Given the description of an element on the screen output the (x, y) to click on. 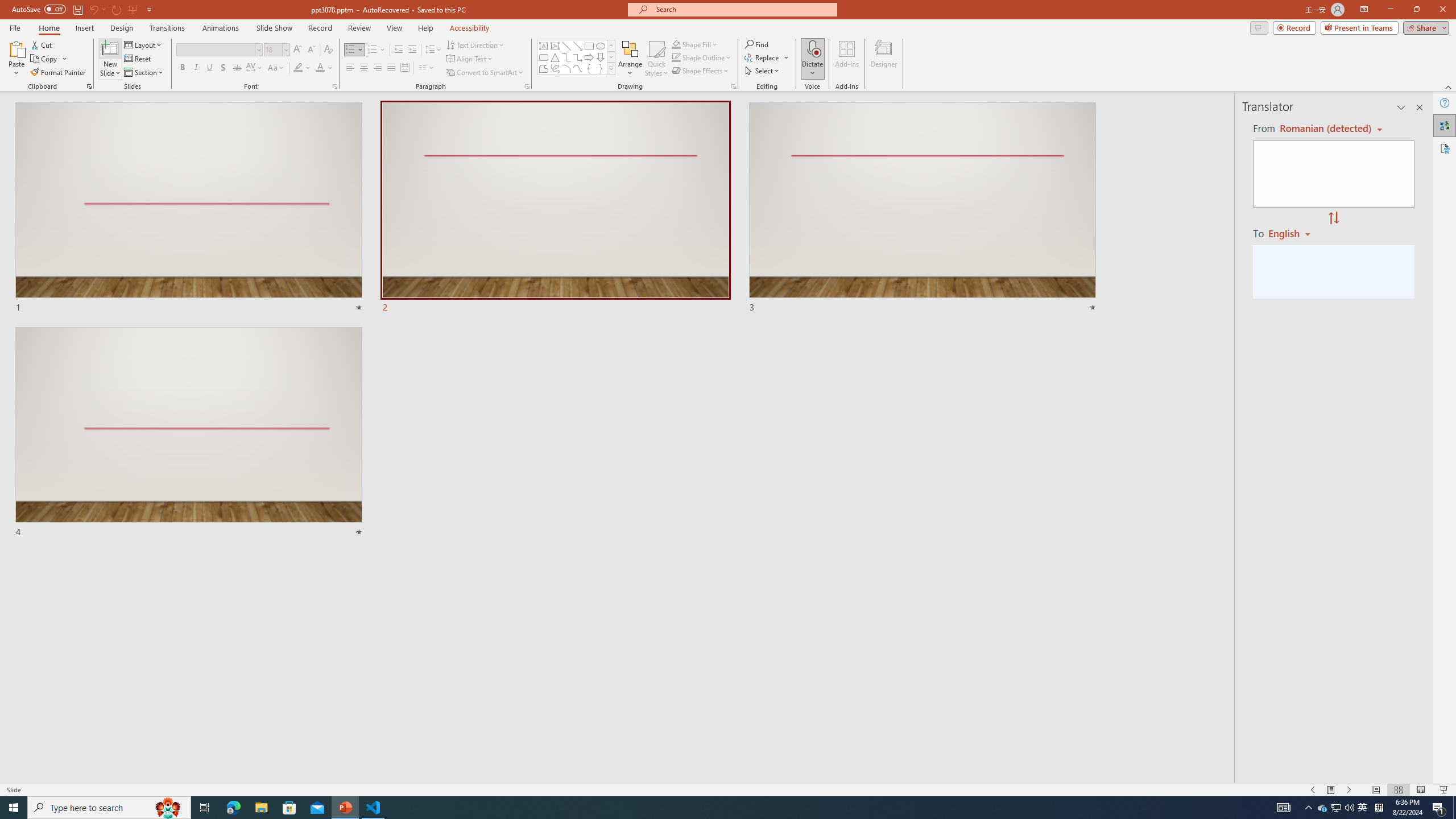
Office Clipboard... (88, 85)
Curve (577, 68)
Character Spacing (254, 67)
Change Case (276, 67)
Section (144, 72)
Center (363, 67)
Shape Effects (700, 69)
Vertical Text Box (554, 45)
